Given the description of an element on the screen output the (x, y) to click on. 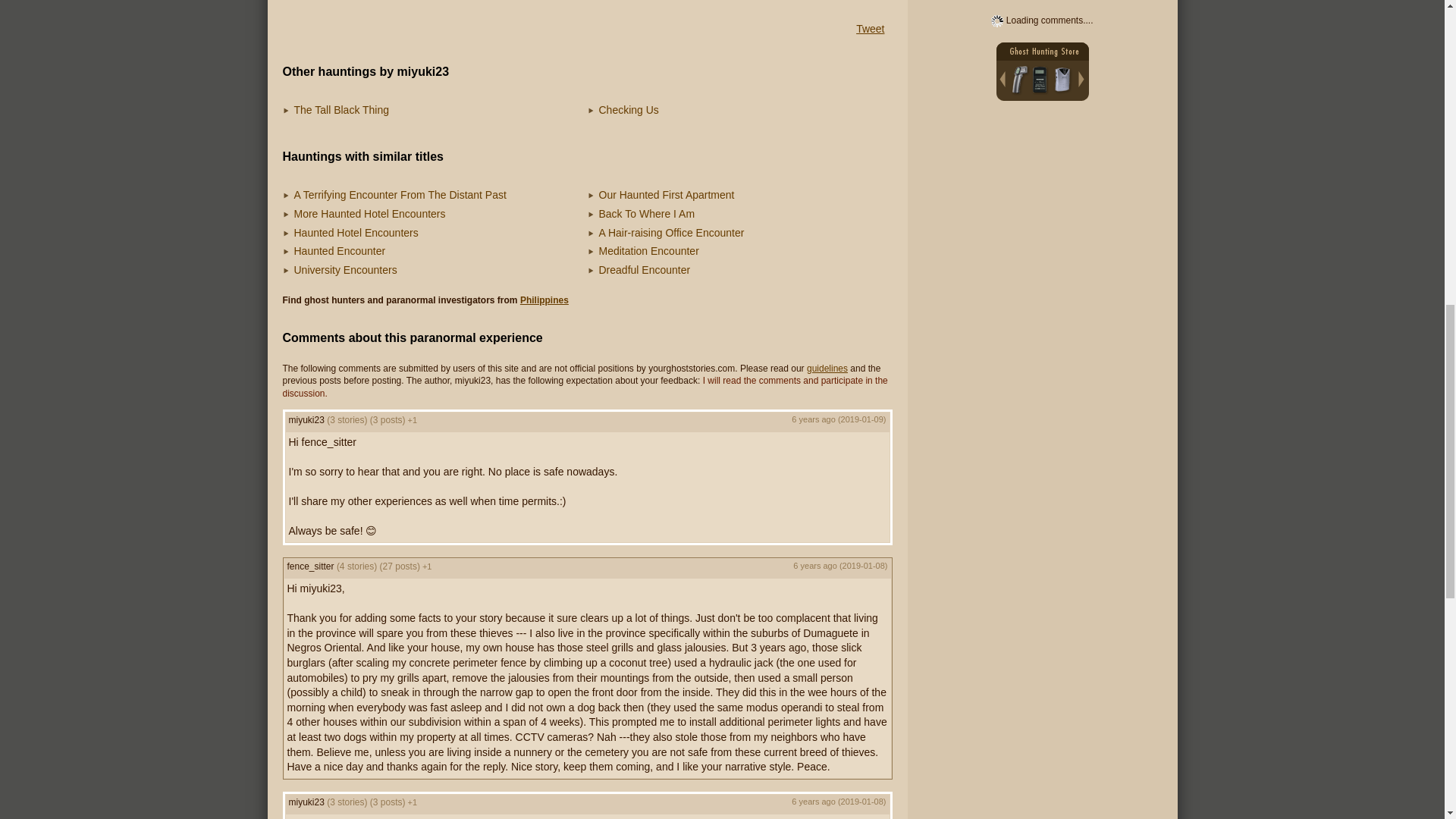
More Haunted Hotel Encounters (369, 214)
Tweet (869, 28)
The Tall Black Thing (342, 110)
University Encounters (345, 269)
Haunted Hotel Encounters (356, 232)
Back To Where I Am (646, 214)
Checking Us (628, 110)
Our Haunted First Apartment (666, 194)
A Terrifying Encounter From The Distant Past (400, 194)
Haunted Encounter (339, 250)
